Given the description of an element on the screen output the (x, y) to click on. 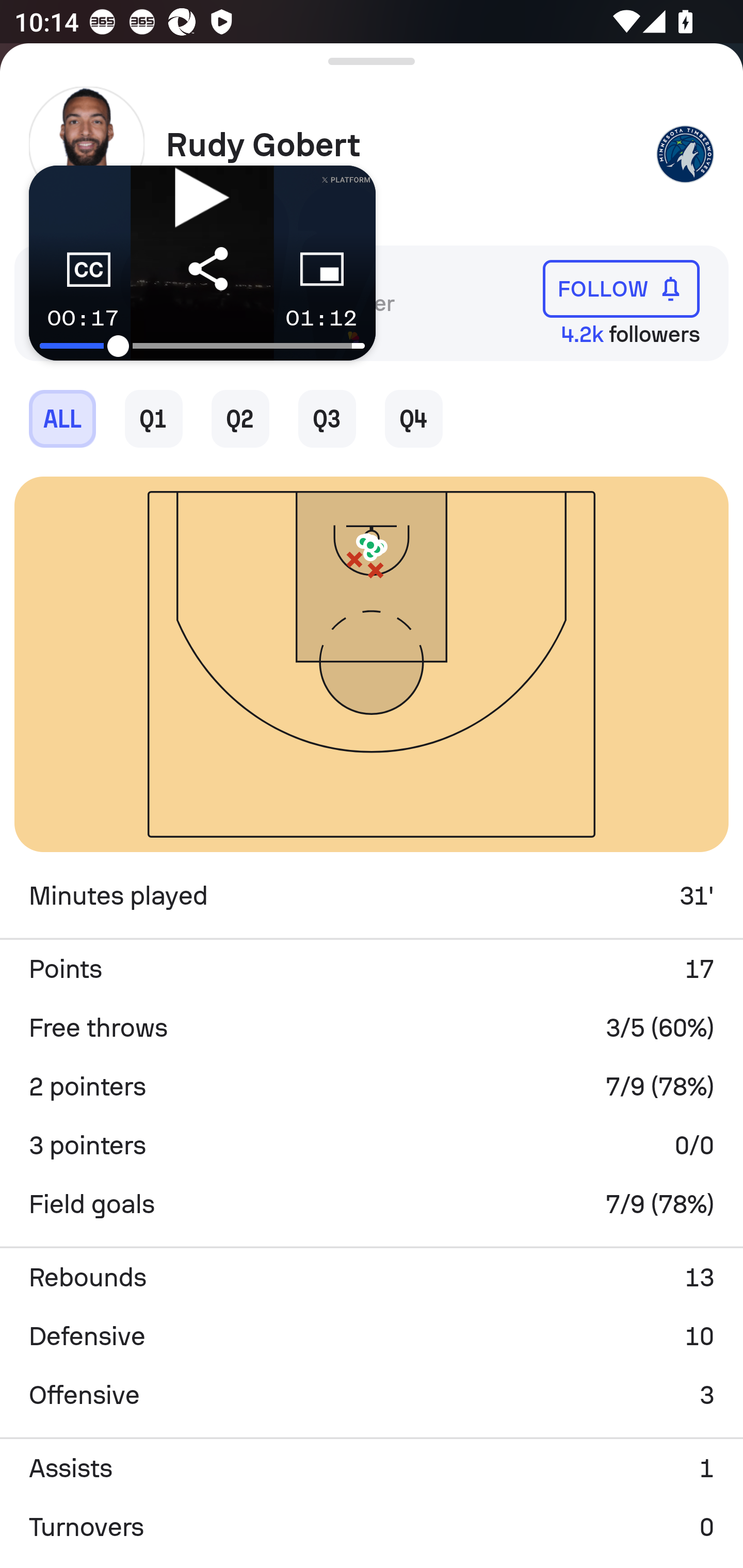
Rudy Gobert (403, 144)
FOLLOW (621, 289)
ALL (62, 418)
Q1 (153, 418)
Q2 (239, 418)
Q3 (326, 418)
Q4 (413, 418)
Minutes played 31' (371, 896)
Points 17 (371, 968)
Free throws 3/5 (60%) (371, 1027)
2 pointers 7/9 (78%) (371, 1086)
3 pointers 0/0 (371, 1145)
Field goals 7/9 (78%) (371, 1204)
Rebounds 13 (371, 1277)
Defensive 10 (371, 1336)
Offensive 3 (371, 1395)
Assists 1 (371, 1468)
Turnovers 0 (371, 1527)
